Given the description of an element on the screen output the (x, y) to click on. 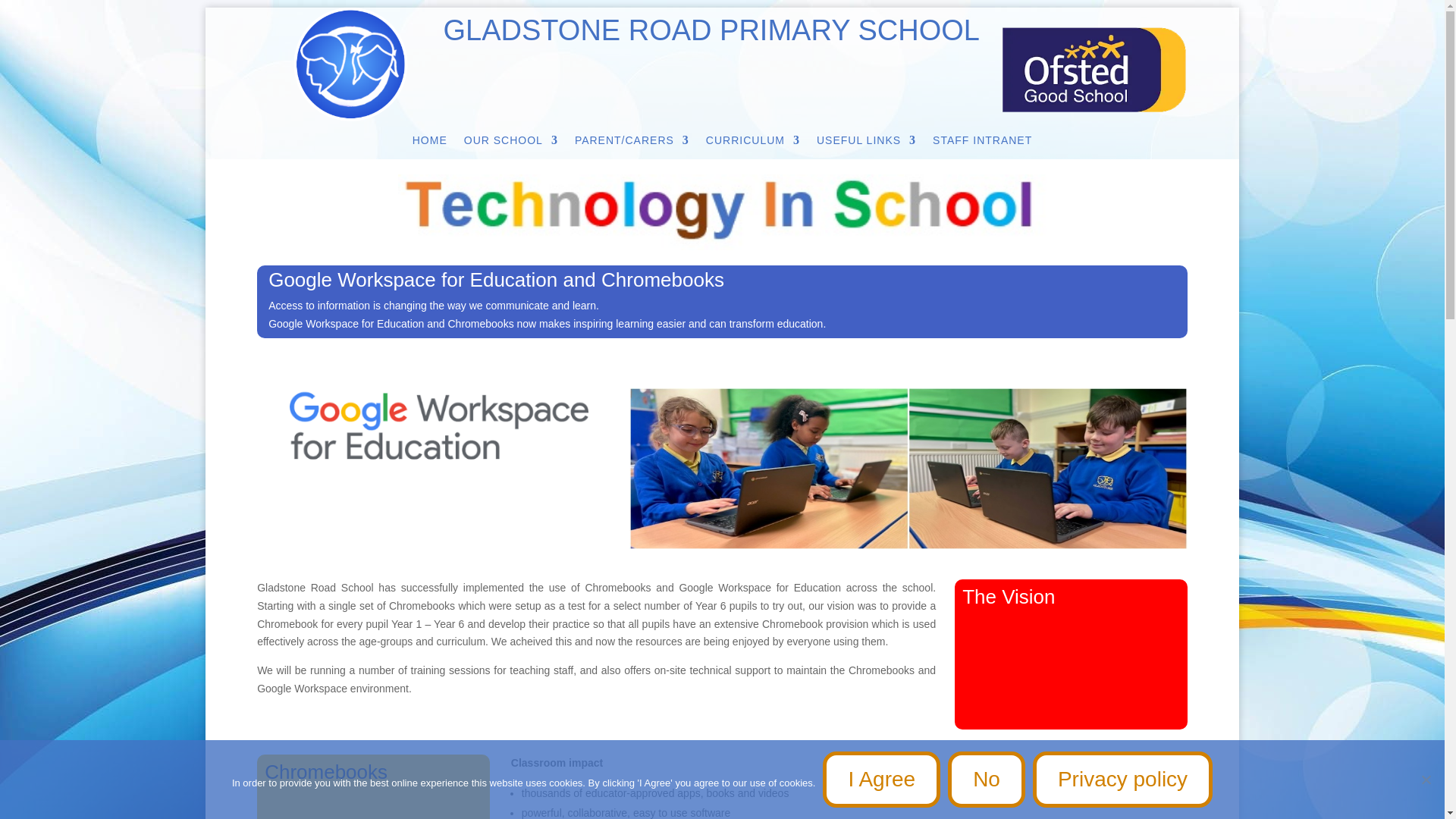
No (1425, 779)
techlogo (721, 212)
ofstedgood (1093, 69)
CB Pic (908, 468)
mobile-logo (350, 64)
OUR SCHOOL (510, 143)
CURRICULUM (752, 143)
HOME (429, 143)
WFE (439, 426)
